Given the description of an element on the screen output the (x, y) to click on. 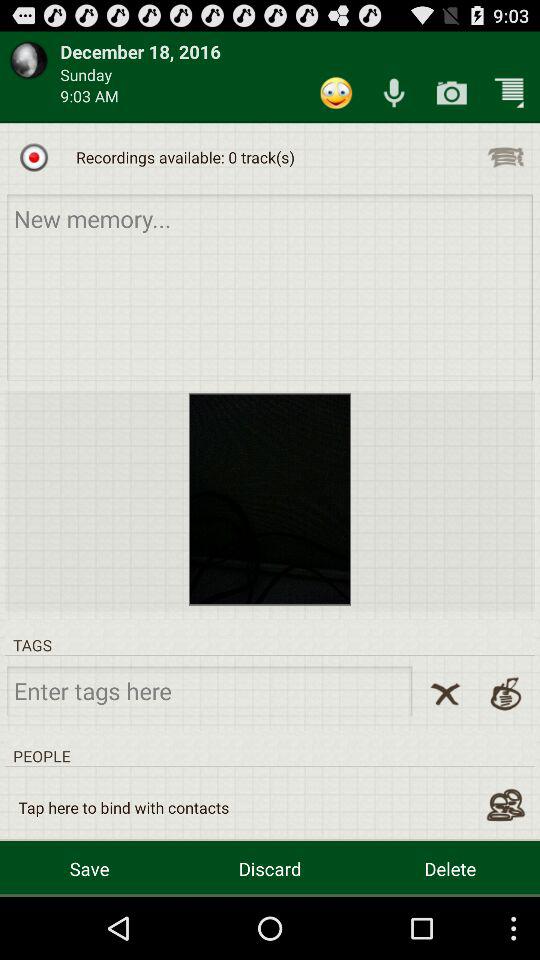
write new memory (269, 286)
